Given the description of an element on the screen output the (x, y) to click on. 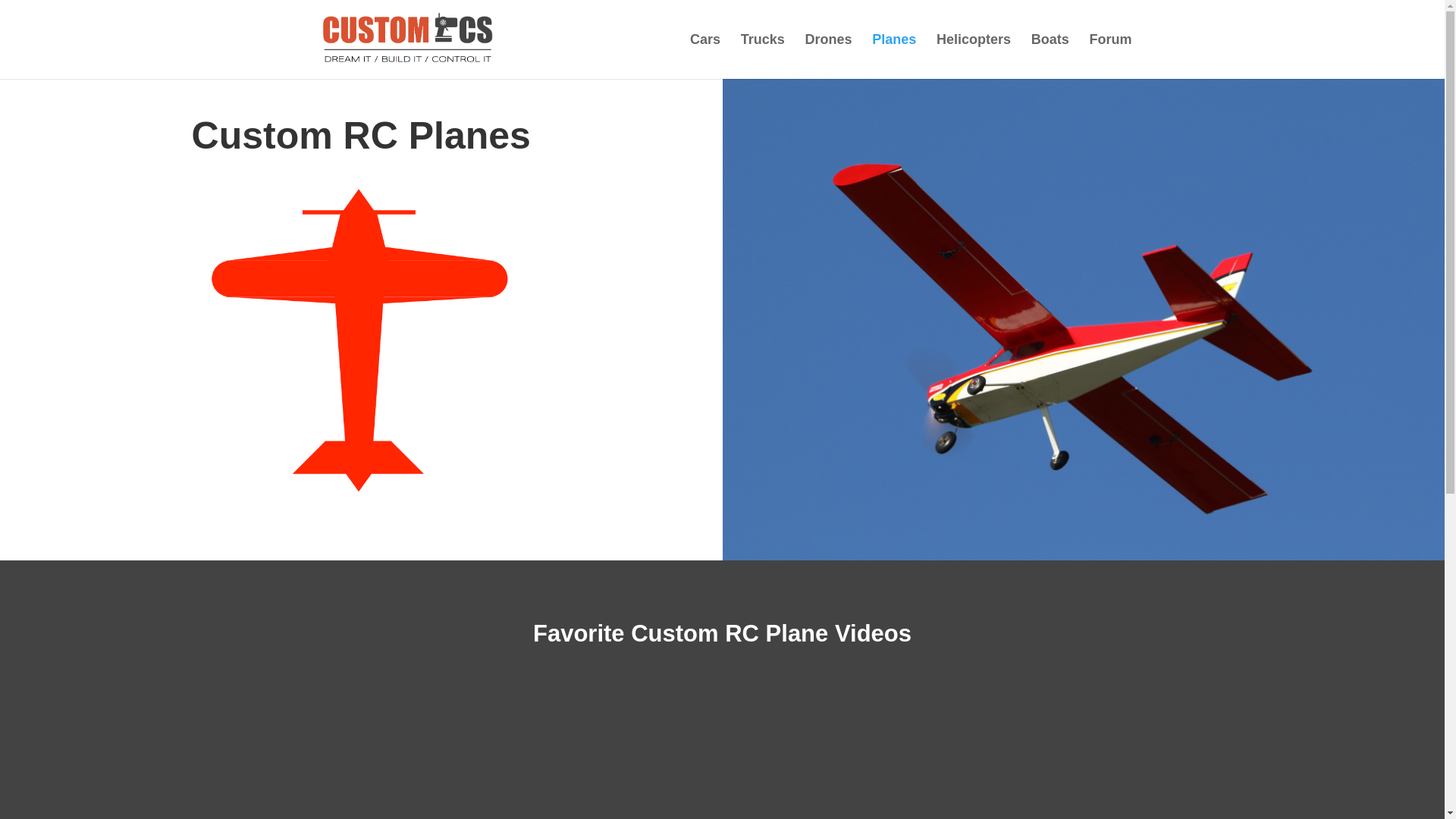
Forum (1110, 56)
Planes (893, 56)
Drones (828, 56)
200 MPH custom built jet (721, 762)
RC Plane Suspension: the results are shocking (433, 762)
Trucks (762, 56)
Helicopters (973, 56)
